Given the description of an element on the screen output the (x, y) to click on. 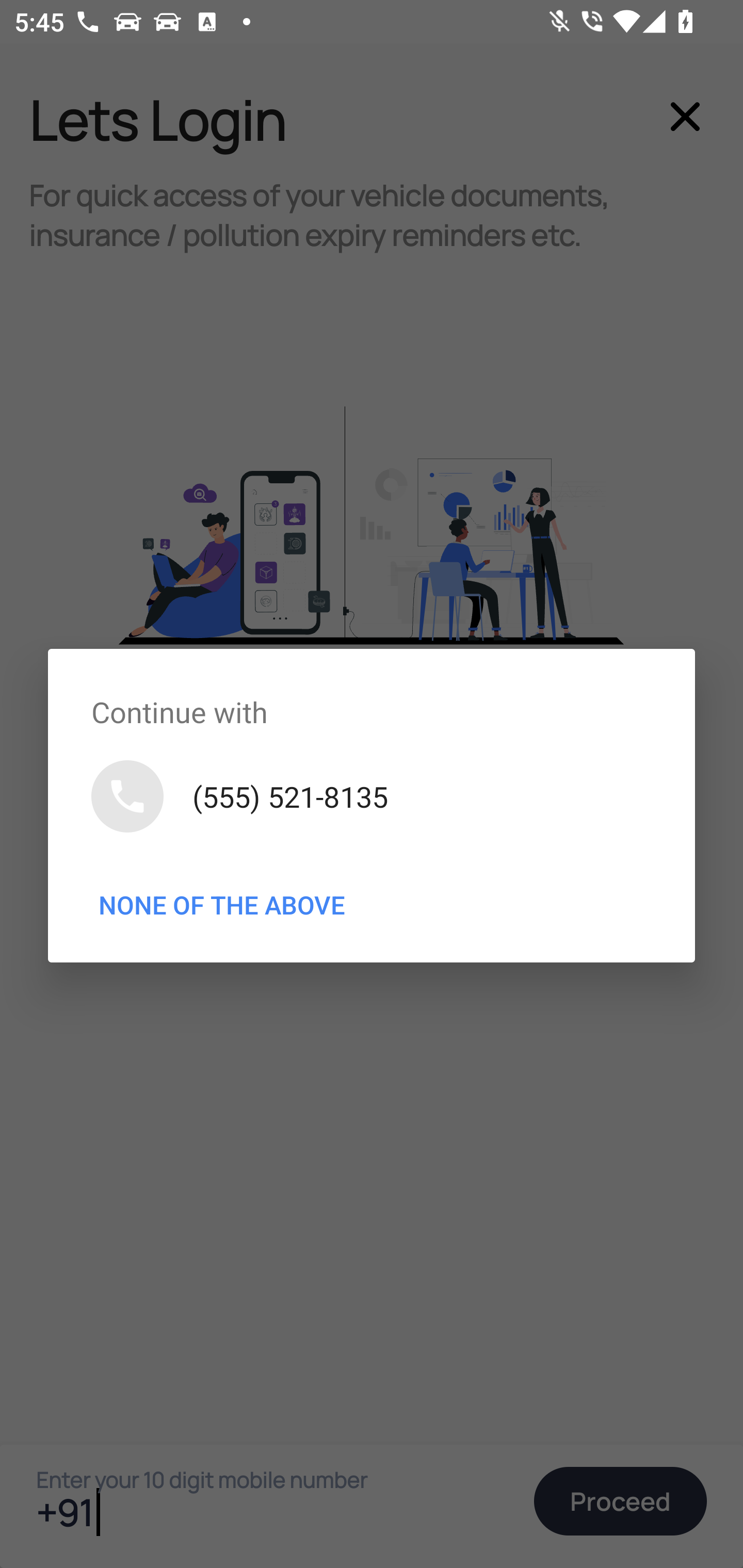
(555) 521-8135 (371, 795)
NONE OF THE ABOVE (221, 904)
